Given the description of an element on the screen output the (x, y) to click on. 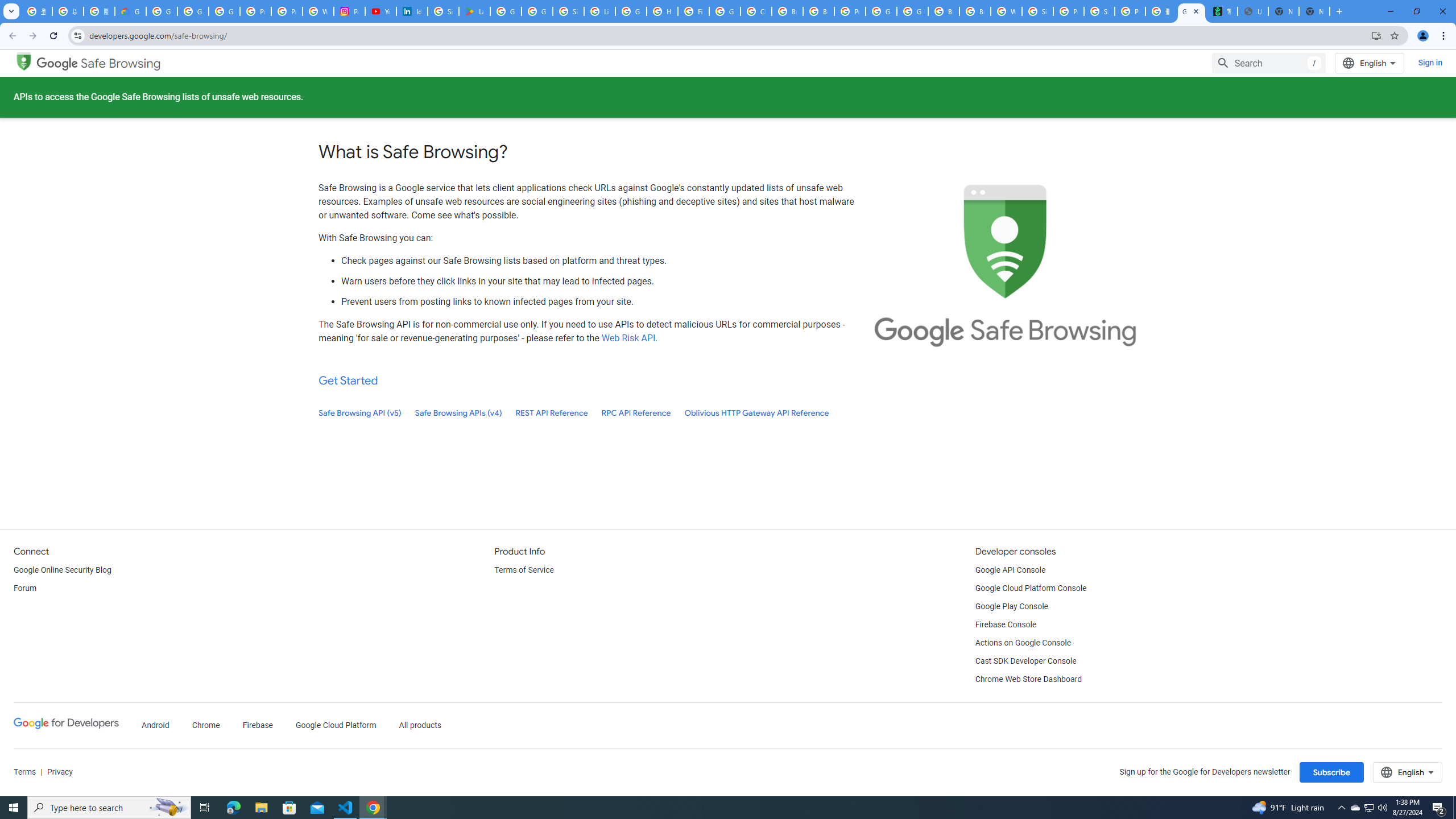
Google Online Security Blog (62, 570)
Google Developers (66, 725)
Google Cloud Platform Console (1030, 588)
Forum (24, 588)
Google (57, 63)
Google Safe Browsing (98, 63)
Android (154, 725)
Google Cloud Platform (881, 11)
Cast SDK Developer Console (1025, 661)
